Given the description of an element on the screen output the (x, y) to click on. 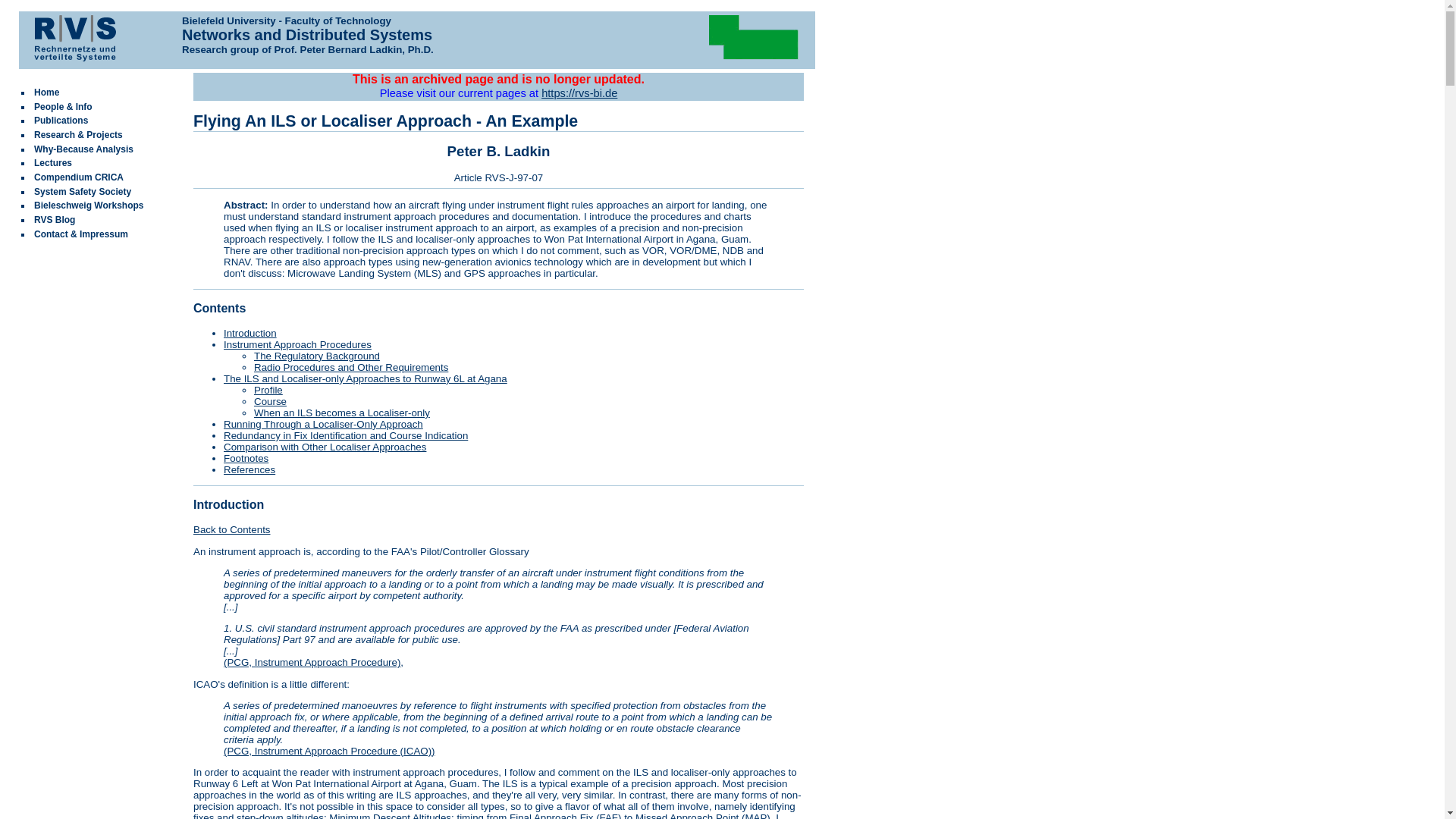
German Chapter of the System Safety Society (82, 191)
When an ILS becomes a Localiser-only (341, 412)
Why-Because Analysis (83, 149)
RVS Publications (60, 120)
Radio Procedures and Other Requirements (350, 367)
Profile (267, 389)
Back to Contents (231, 529)
The RVS Blog on www.abnormaldistribution.org (54, 219)
Footnotes (245, 458)
The Regulatory Background (316, 355)
RVS Lectures (52, 163)
References (249, 469)
Running Through a Localiser-Only Approach (323, 423)
